Given the description of an element on the screen output the (x, y) to click on. 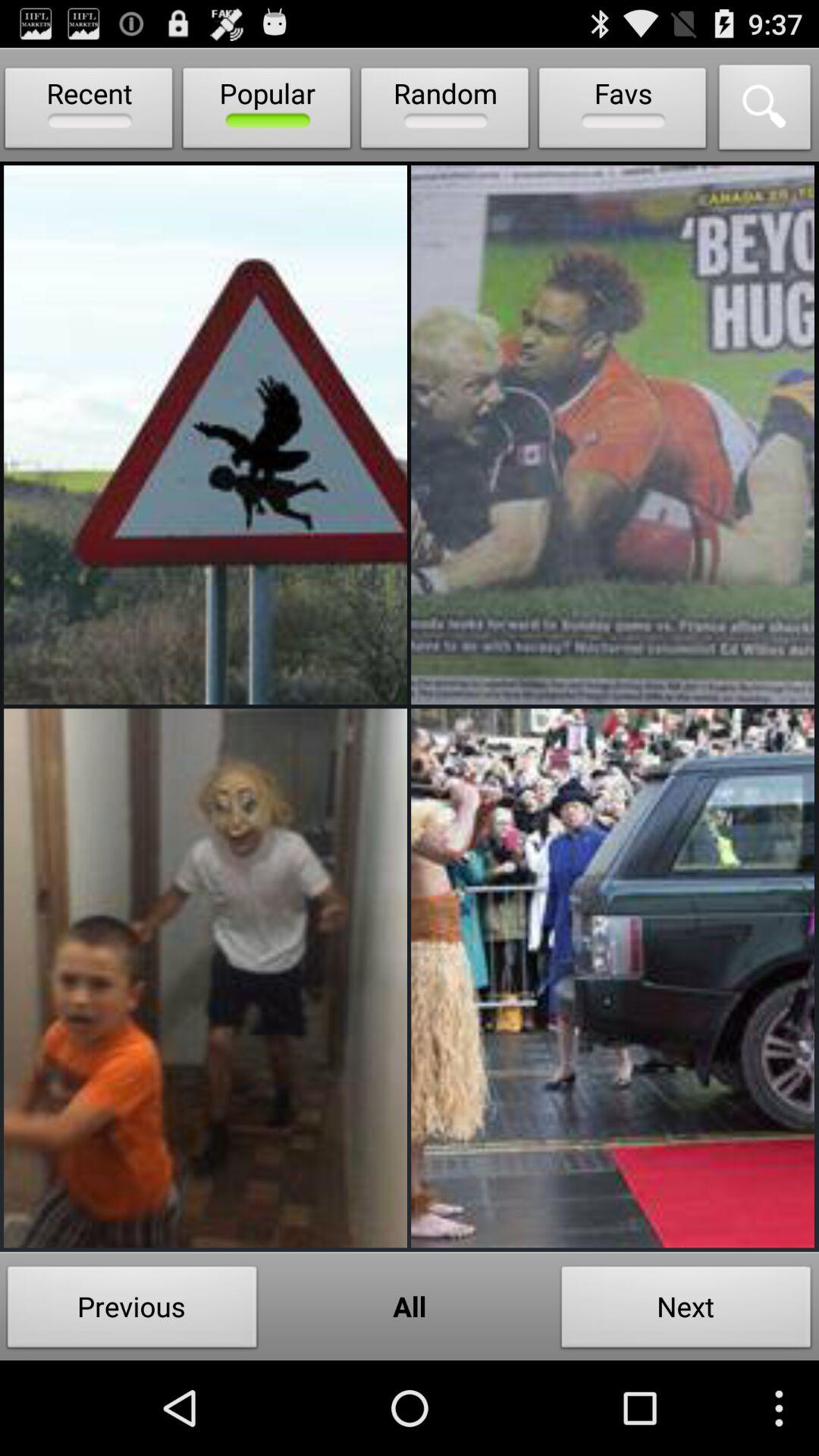
open item to the left of next icon (409, 1306)
